Given the description of an element on the screen output the (x, y) to click on. 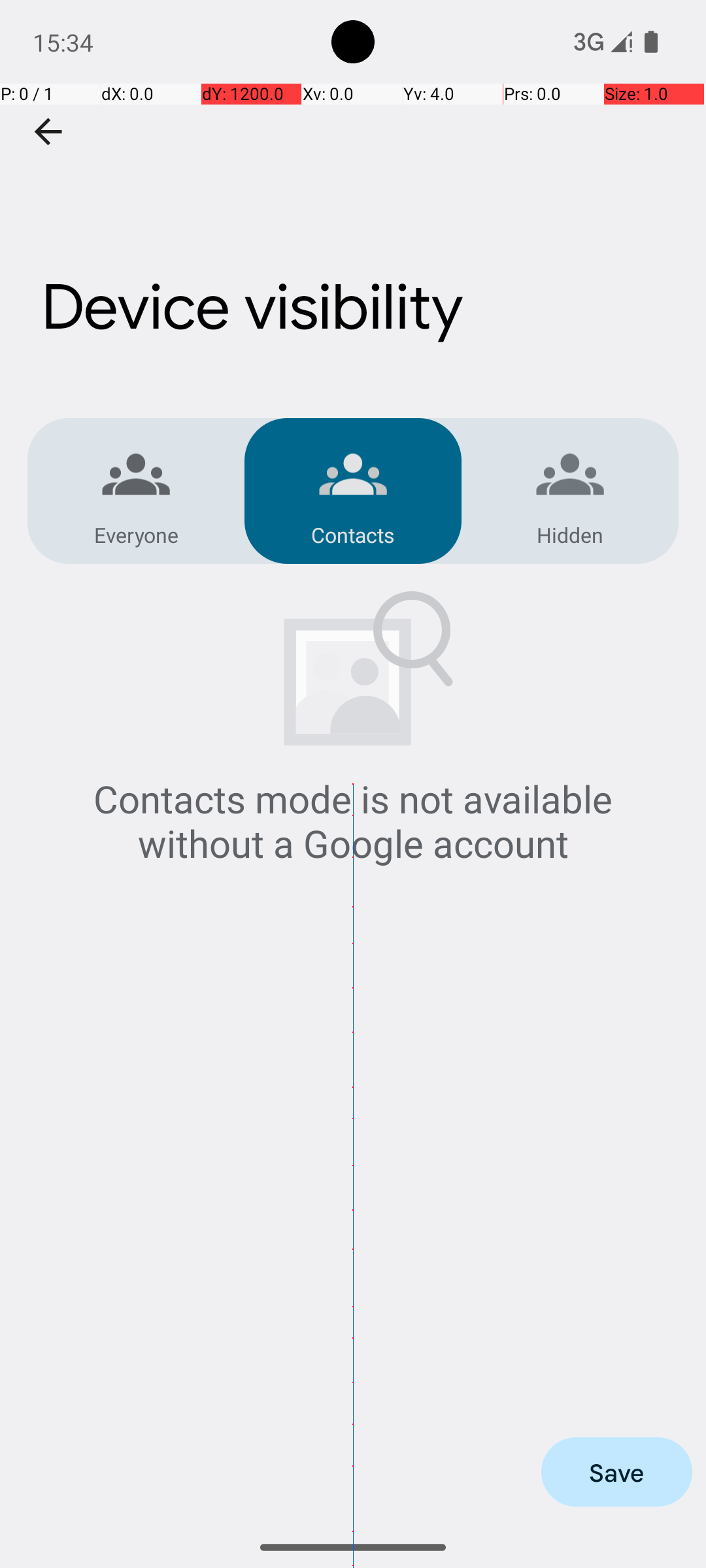
Device visibility Element type: android.widget.FrameLayout (353, 236)
Contacts mode is not available without a Google account Element type: android.widget.TextView (352, 820)
Save Element type: android.widget.Button (616, 1471)
Navigate up Element type: android.widget.ImageButton (48, 131)
Everyone Element type: android.widget.TextView (135, 534)
Contacts Element type: android.widget.TextView (352, 534)
Hidden Element type: android.widget.TextView (569, 534)
